Given the description of an element on the screen output the (x, y) to click on. 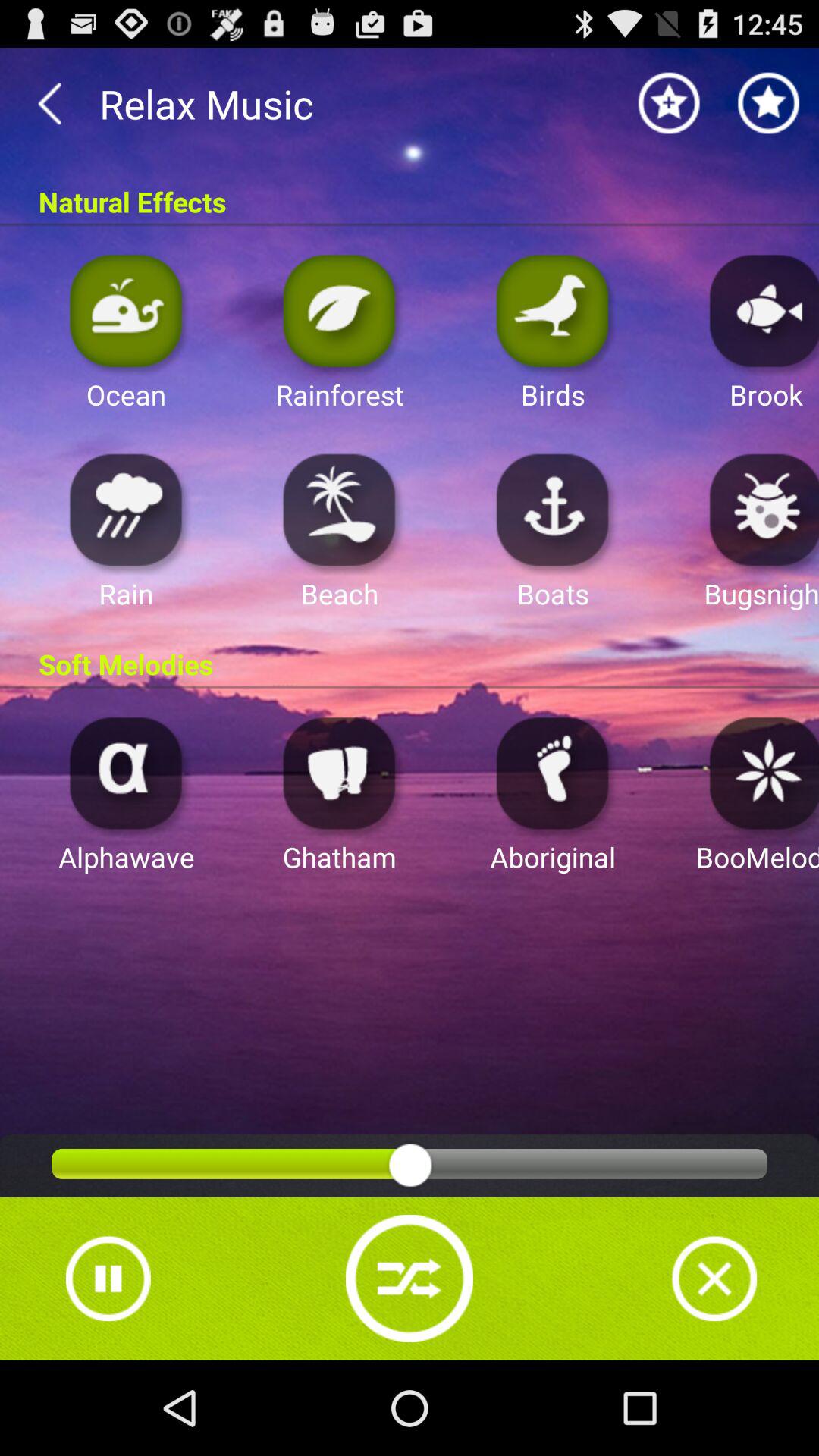
aboriginal sound (552, 772)
